Given the description of an element on the screen output the (x, y) to click on. 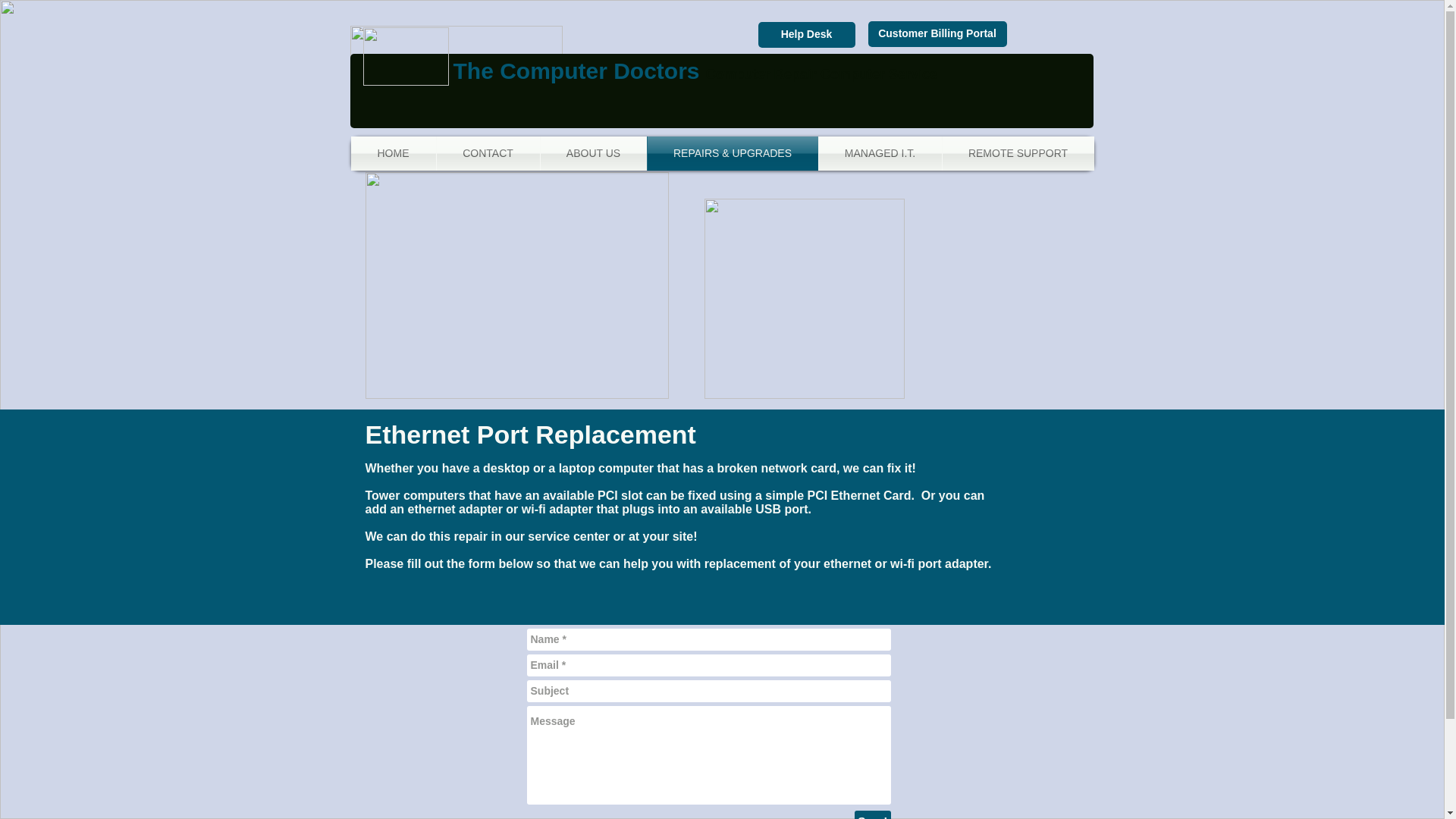
Help Desk (807, 34)
MANAGED I.T. (880, 153)
HOME (392, 153)
REMOTE SUPPORT (1017, 153)
ABOUT US (593, 153)
Send (871, 814)
Customer Billing Portal (936, 33)
CONTACT (488, 153)
